Given the description of an element on the screen output the (x, y) to click on. 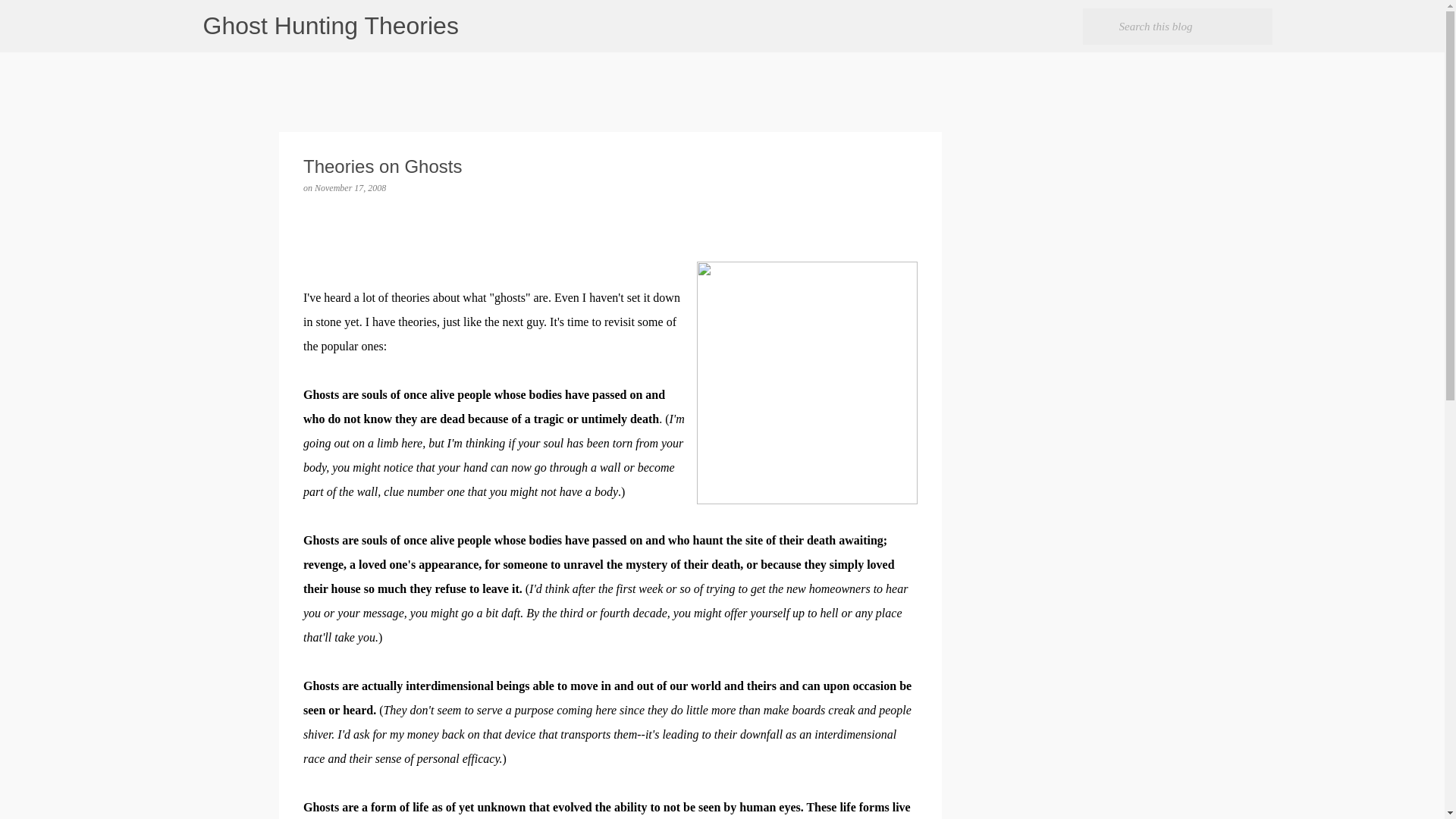
November 17, 2008 (349, 187)
permanent link (349, 187)
Ghost Hunting Theories (330, 25)
